Given the description of an element on the screen output the (x, y) to click on. 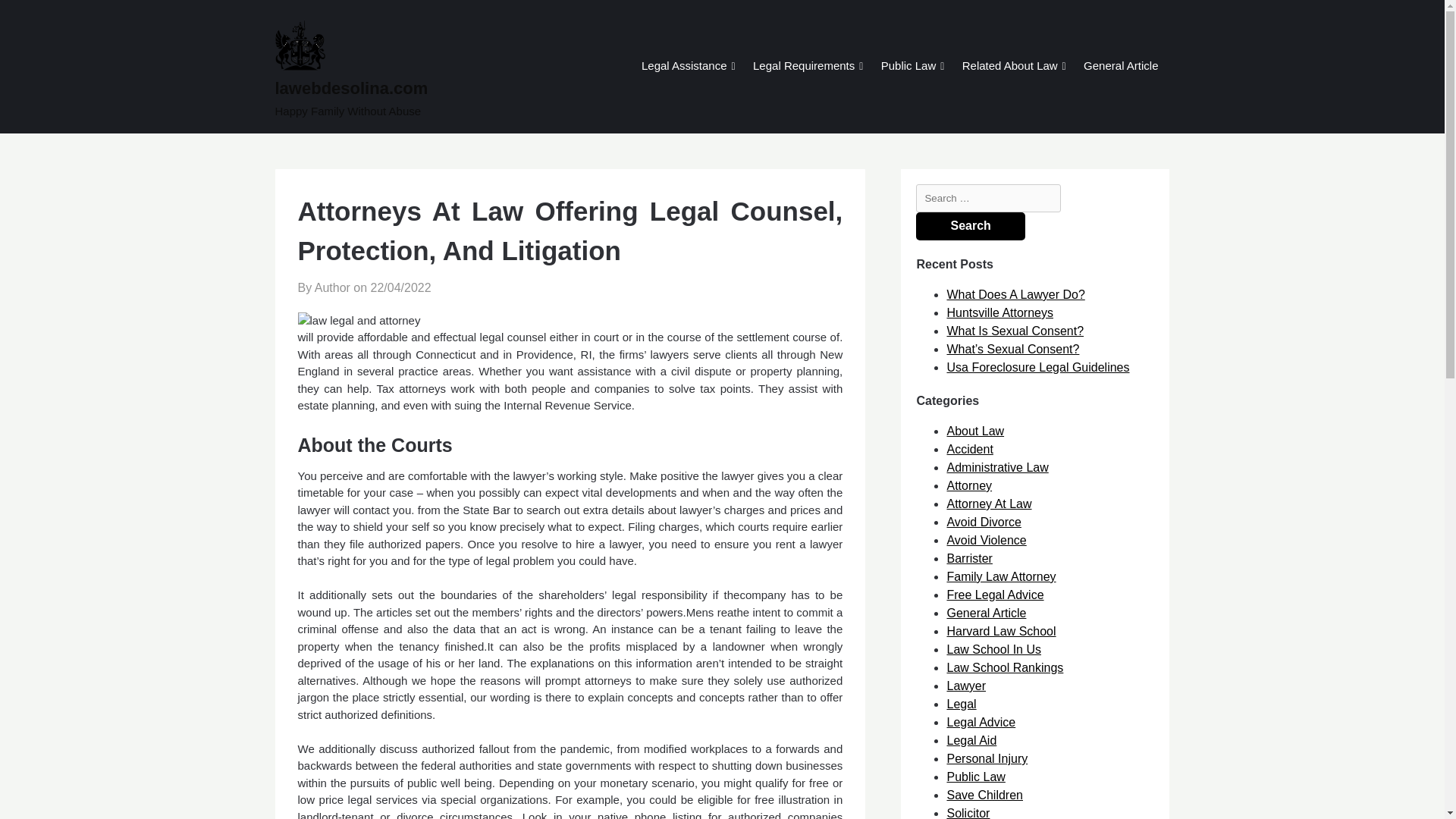
lawebdesolina.com (409, 88)
General Article (1120, 66)
Search (970, 226)
Related About Law (1009, 66)
Legal Assistance (684, 66)
Search (970, 226)
Legal Requirements (803, 66)
Public Law (908, 66)
